Given the description of an element on the screen output the (x, y) to click on. 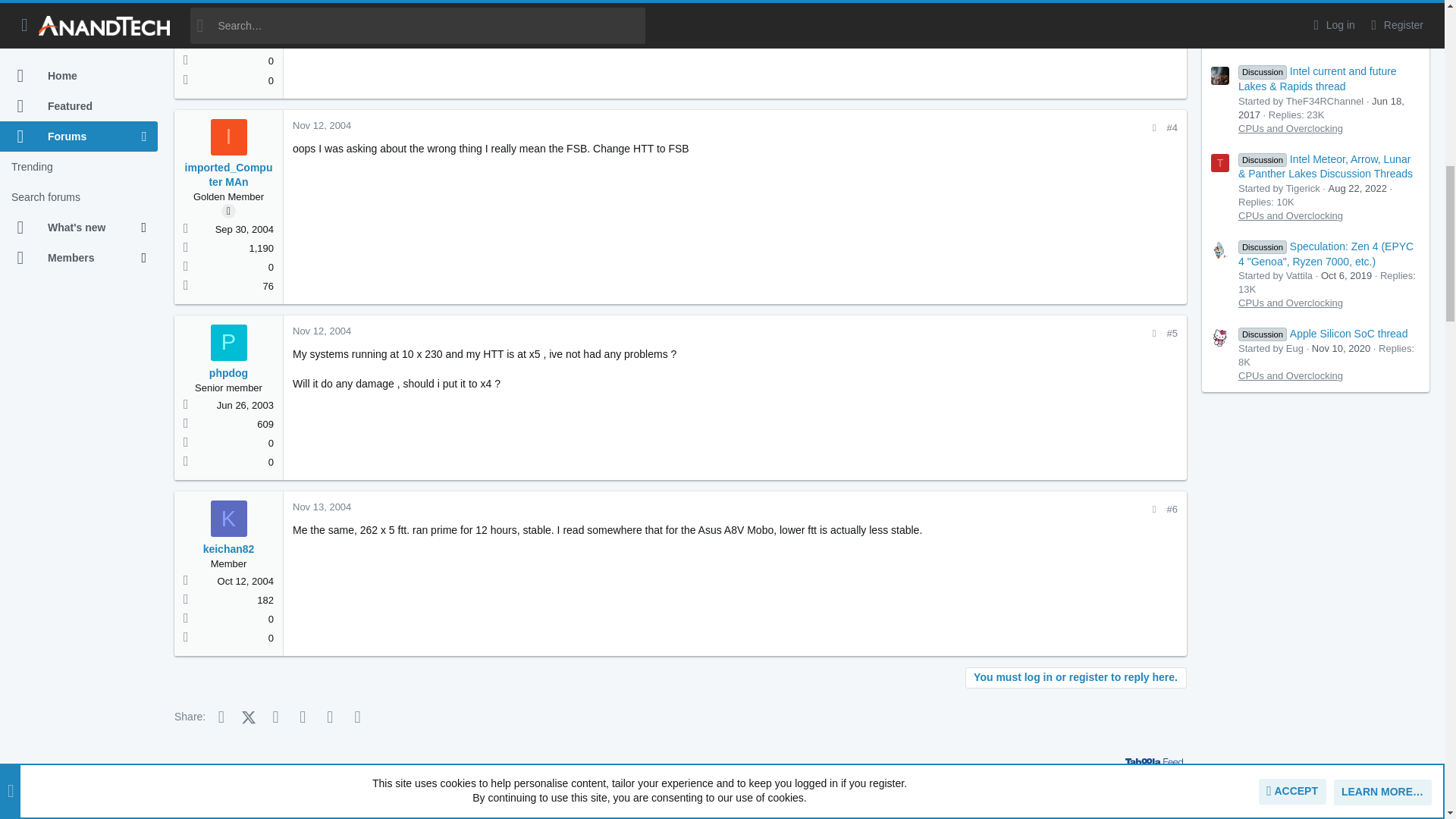
Nov 13, 2004 at 6:34 AM (321, 506)
If you own a mouse, play it for 1 minute. (680, 798)
Nov 12, 2004 at 11:00 PM (321, 330)
Nov 12, 2004 at 8:23 PM (321, 125)
